Given the description of an element on the screen output the (x, y) to click on. 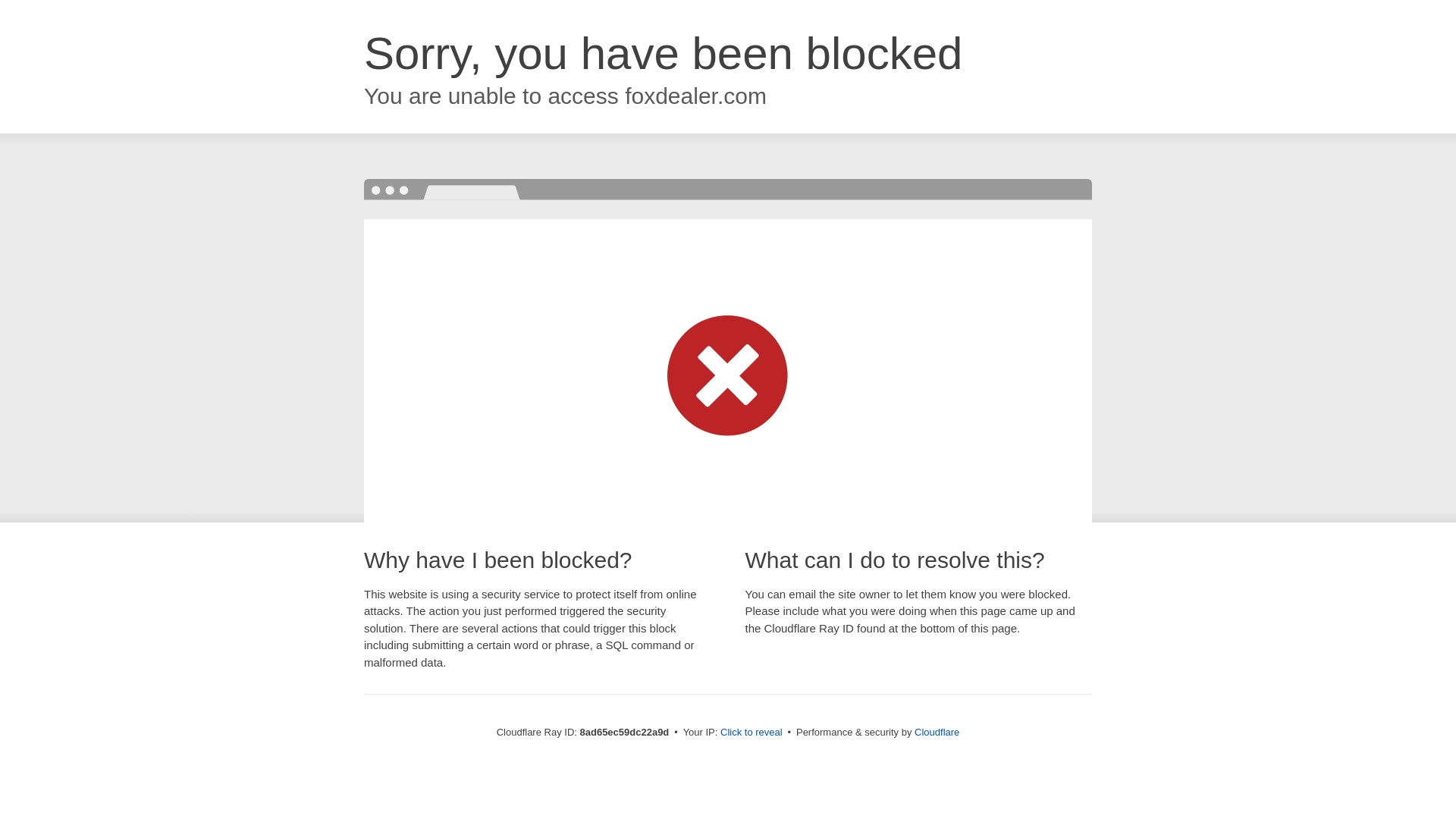
Click to reveal (751, 732)
Cloudflare (936, 731)
